Given the description of an element on the screen output the (x, y) to click on. 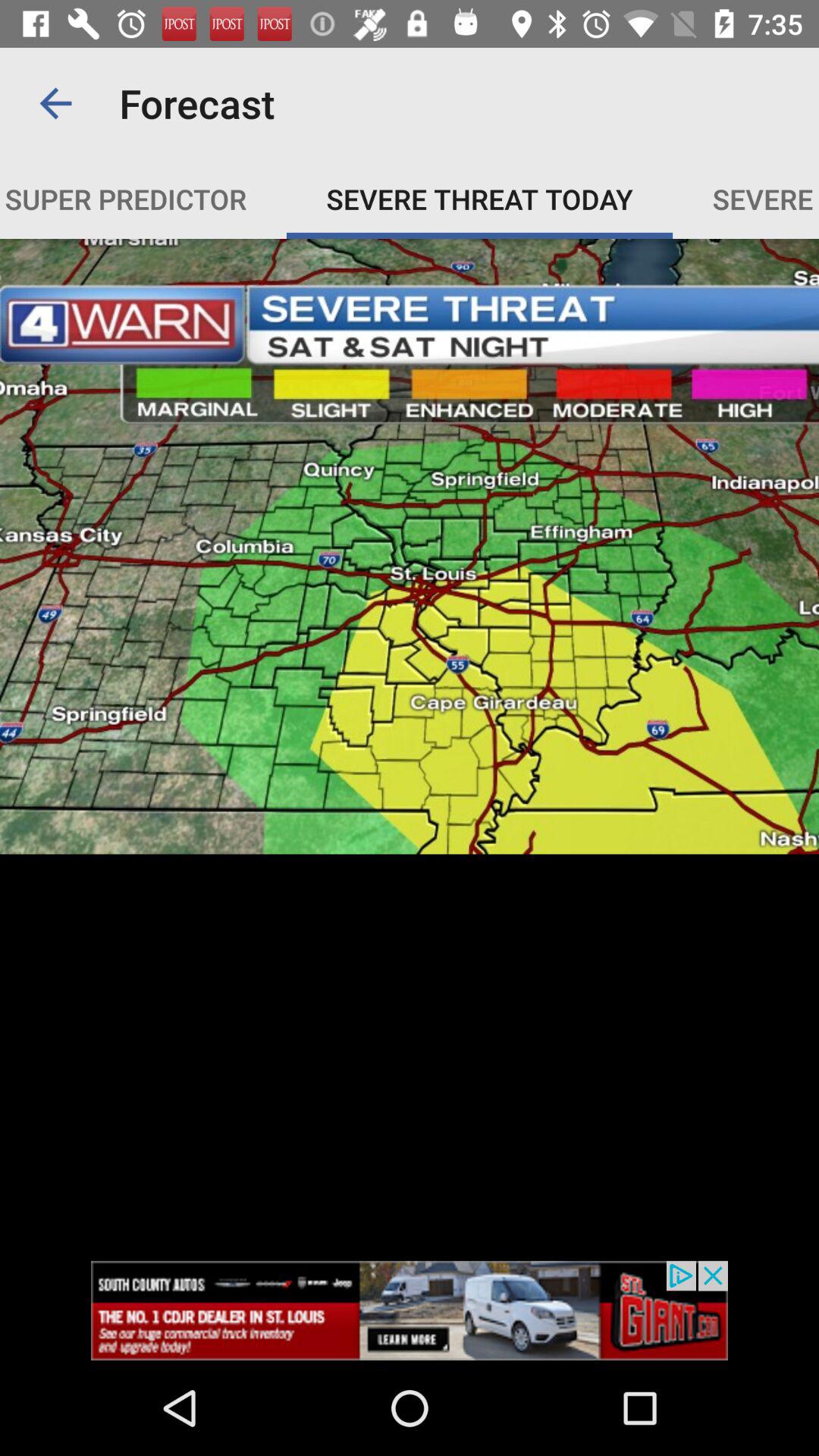
pop up advertisement (409, 1310)
